Given the description of an element on the screen output the (x, y) to click on. 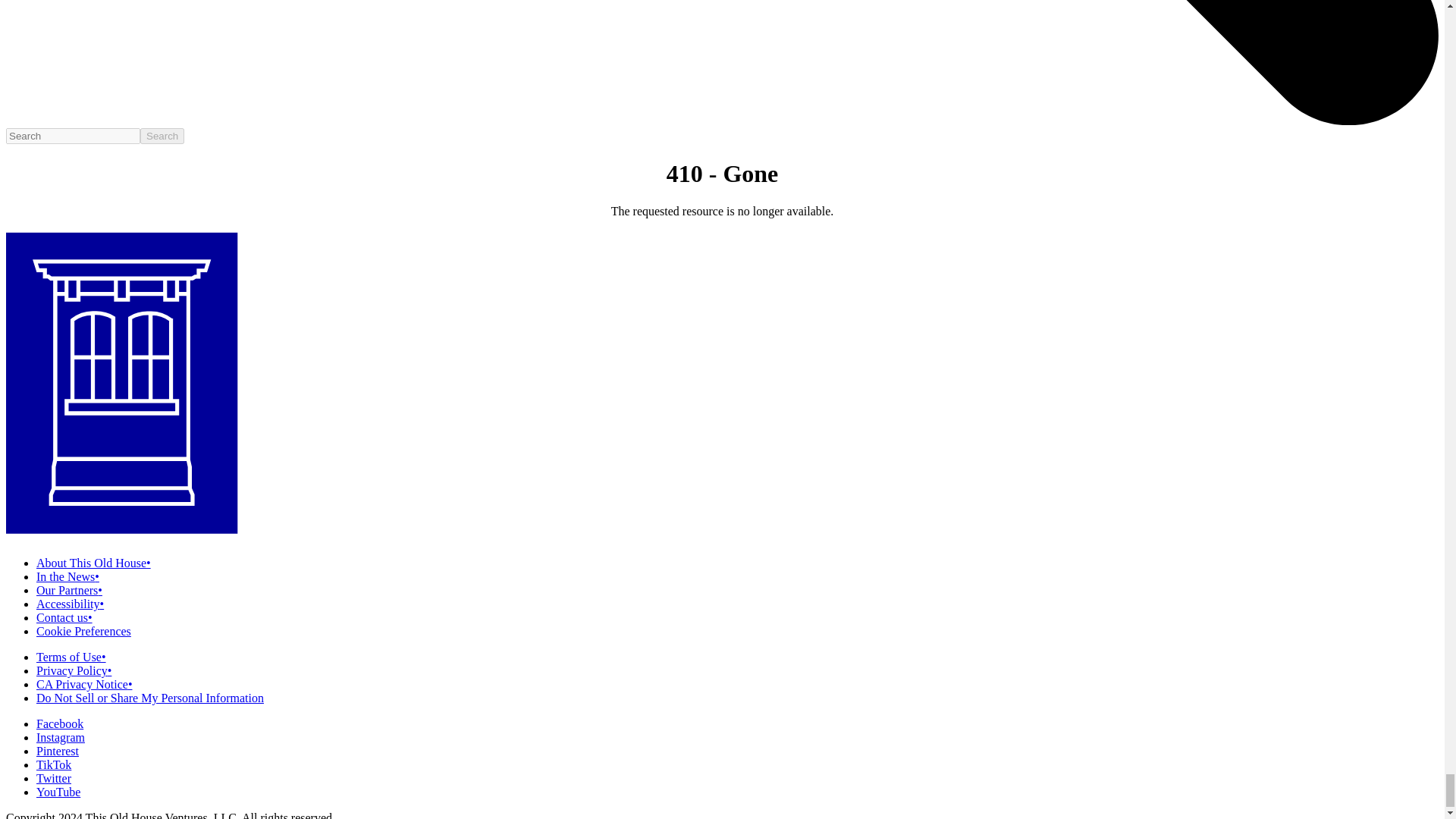
Search (161, 135)
